Given the description of an element on the screen output the (x, y) to click on. 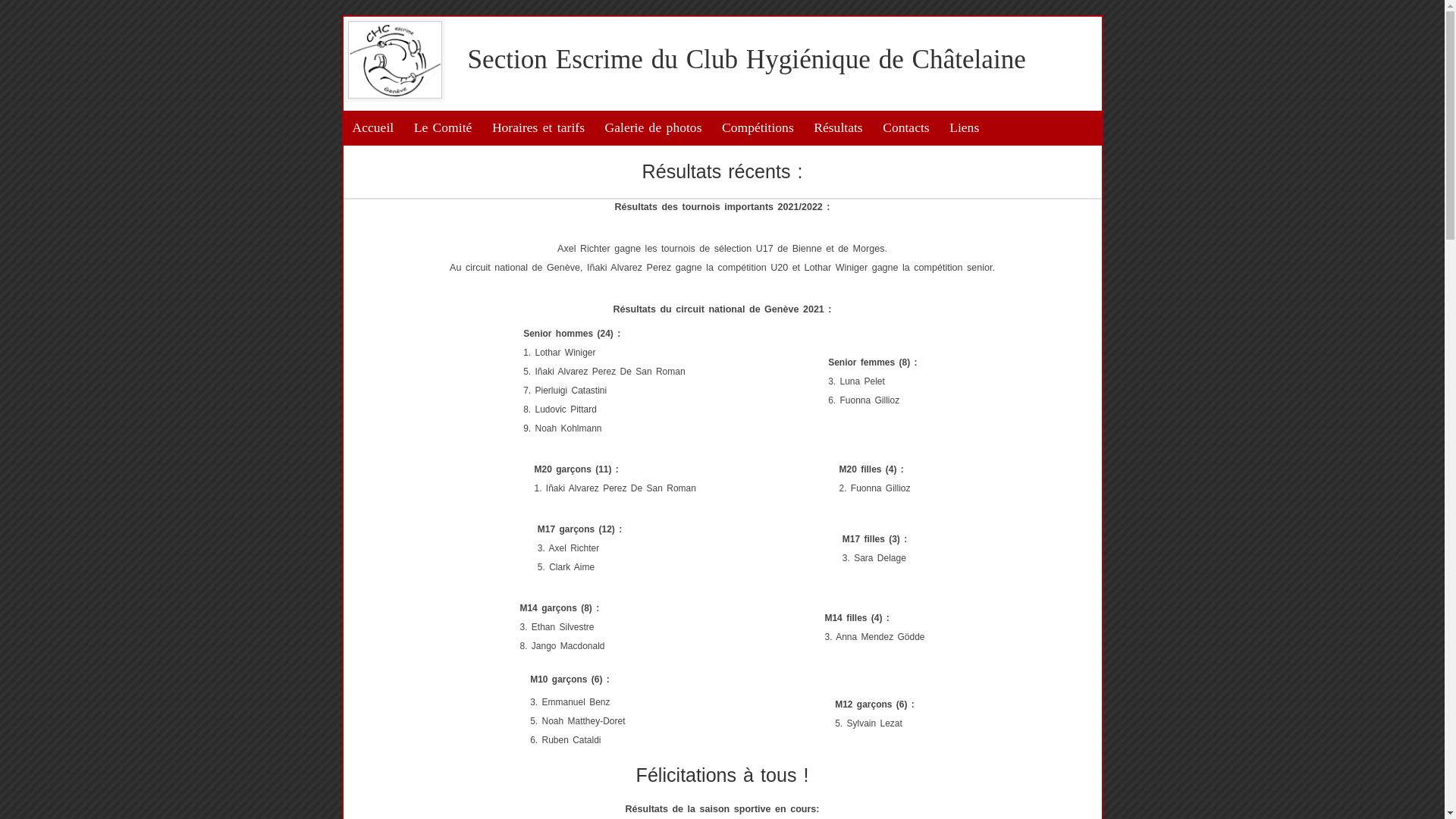
Galerie de photos Element type: text (653, 127)
Contacts Element type: text (906, 127)
Liens Element type: text (963, 127)
Horaires et tarifs Element type: text (538, 127)
Accueil Element type: text (372, 127)
